Given the description of an element on the screen output the (x, y) to click on. 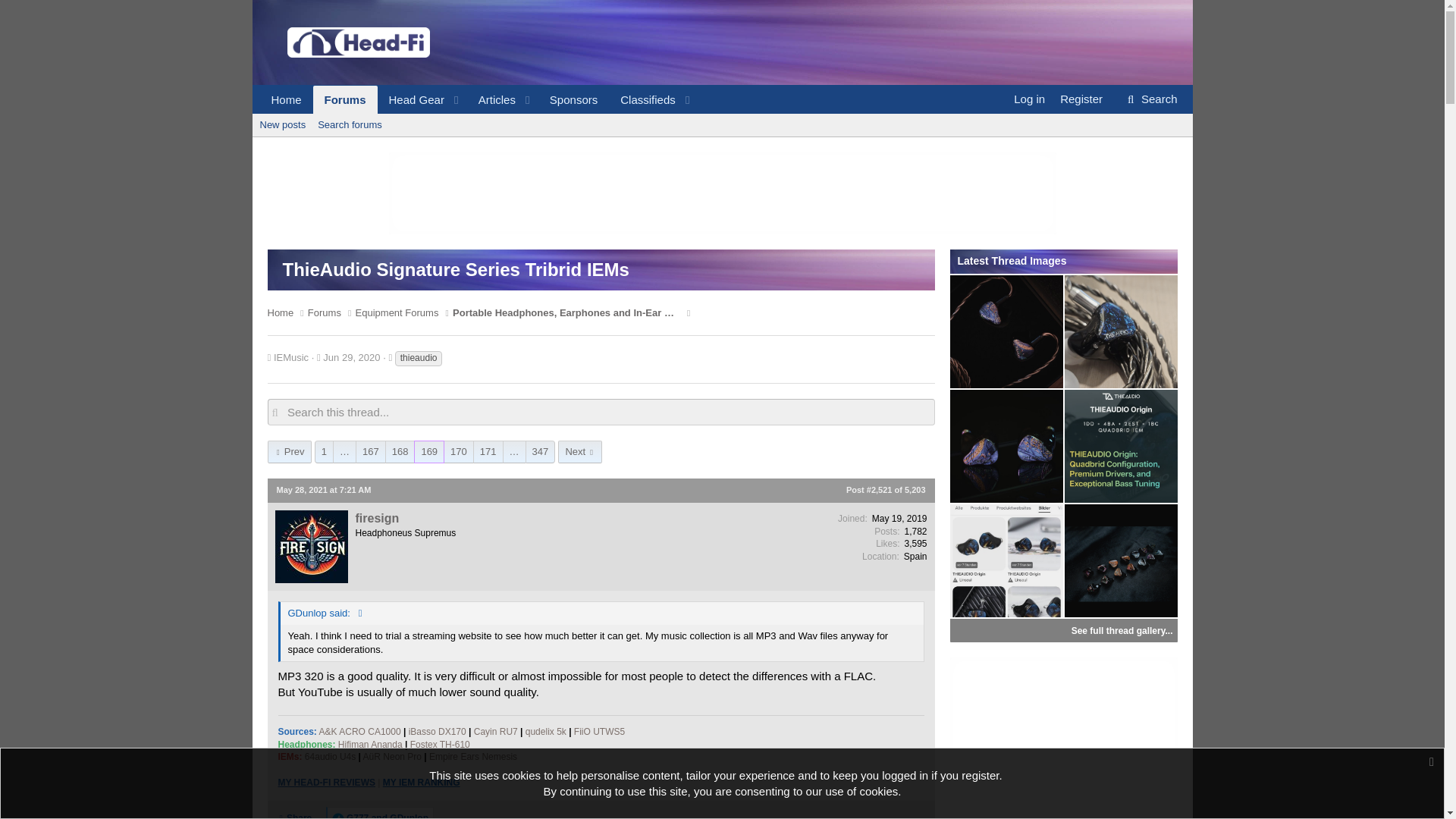
Search forums (349, 124)
Log in (1029, 99)
Jun 29, 2020 at 11:17 PM (477, 99)
New posts (477, 99)
Head Gear (351, 357)
Sponsors (282, 124)
Like (411, 99)
